Given the description of an element on the screen output the (x, y) to click on. 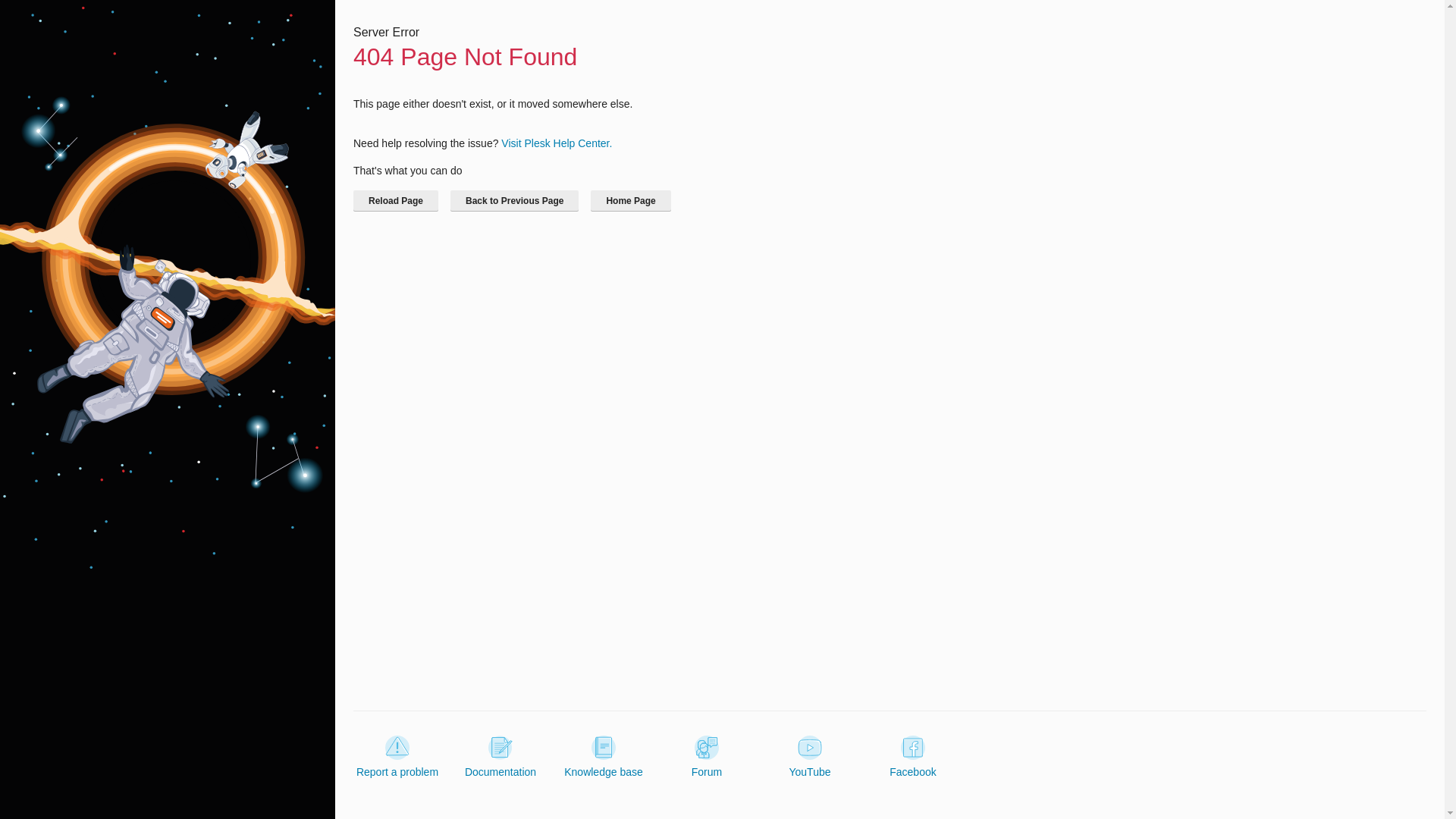
Documentation (500, 757)
Knowledge base (603, 757)
Reload Page (395, 200)
Visit Plesk Help Center. (555, 143)
Back to Previous Page (513, 200)
Forum (706, 757)
Report a problem (397, 757)
Home Page (630, 200)
Facebook (912, 757)
YouTube (809, 757)
